Given the description of an element on the screen output the (x, y) to click on. 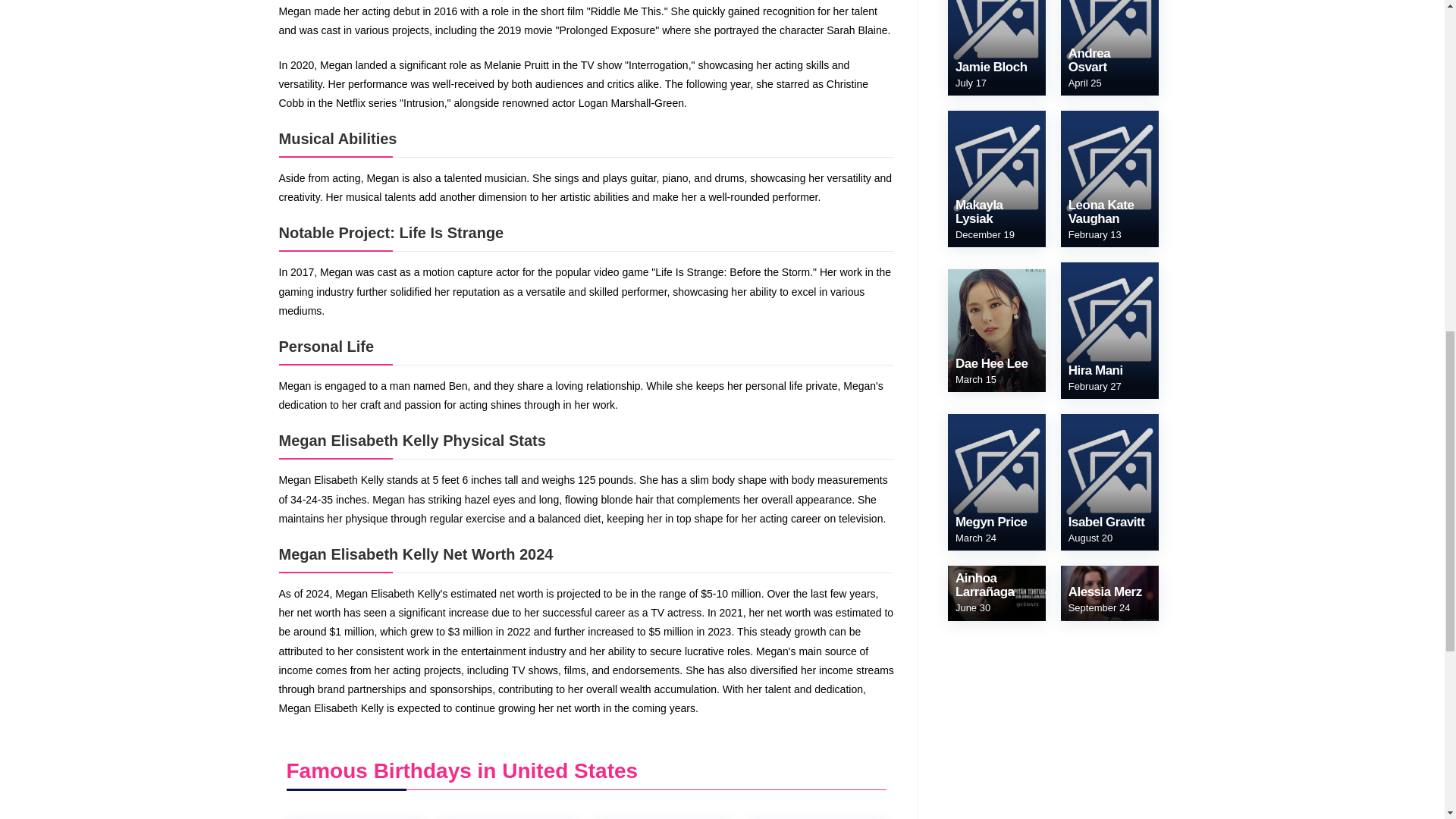
Famous Birthdays in United States (462, 770)
